Given the description of an element on the screen output the (x, y) to click on. 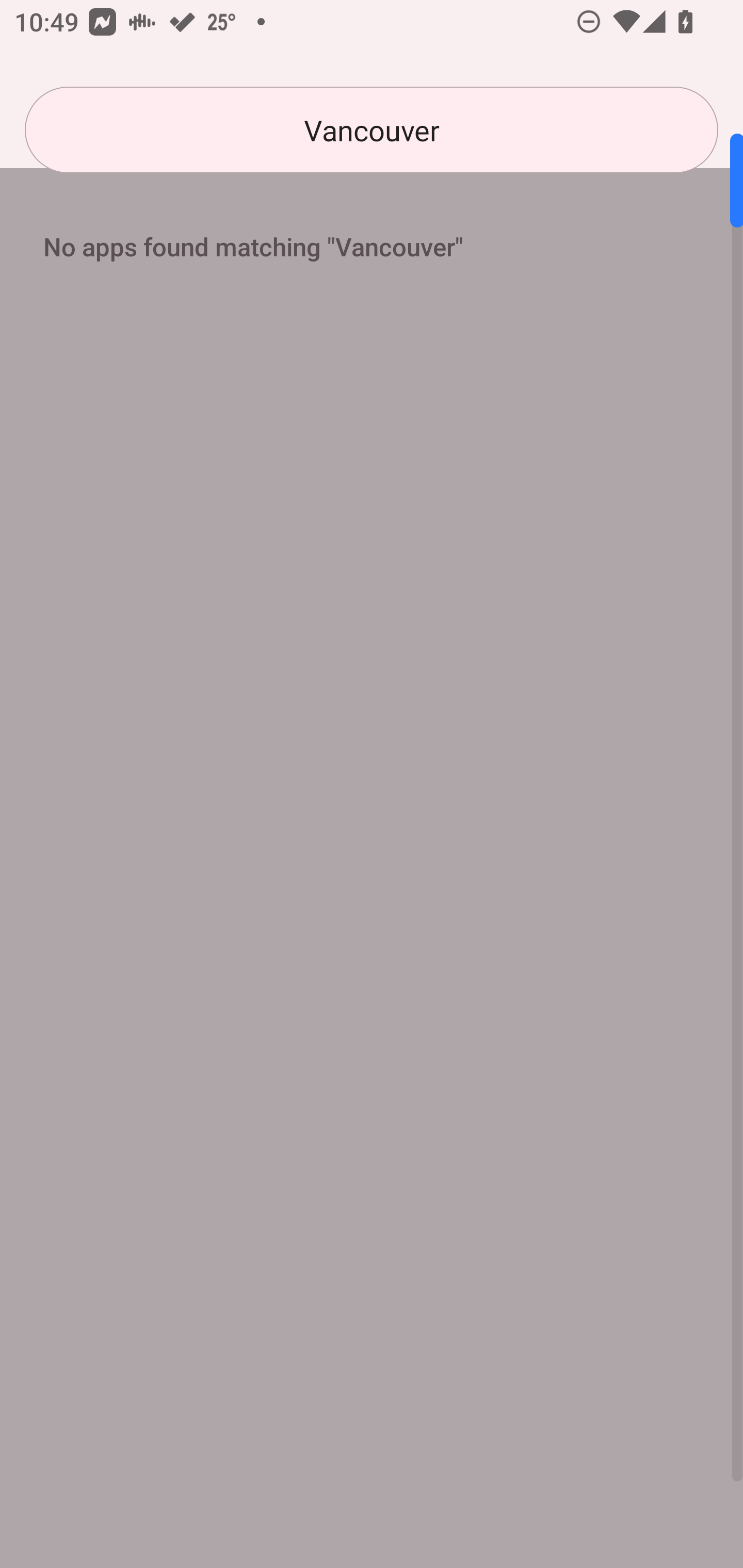
Vancouver (371, 130)
